Given the description of an element on the screen output the (x, y) to click on. 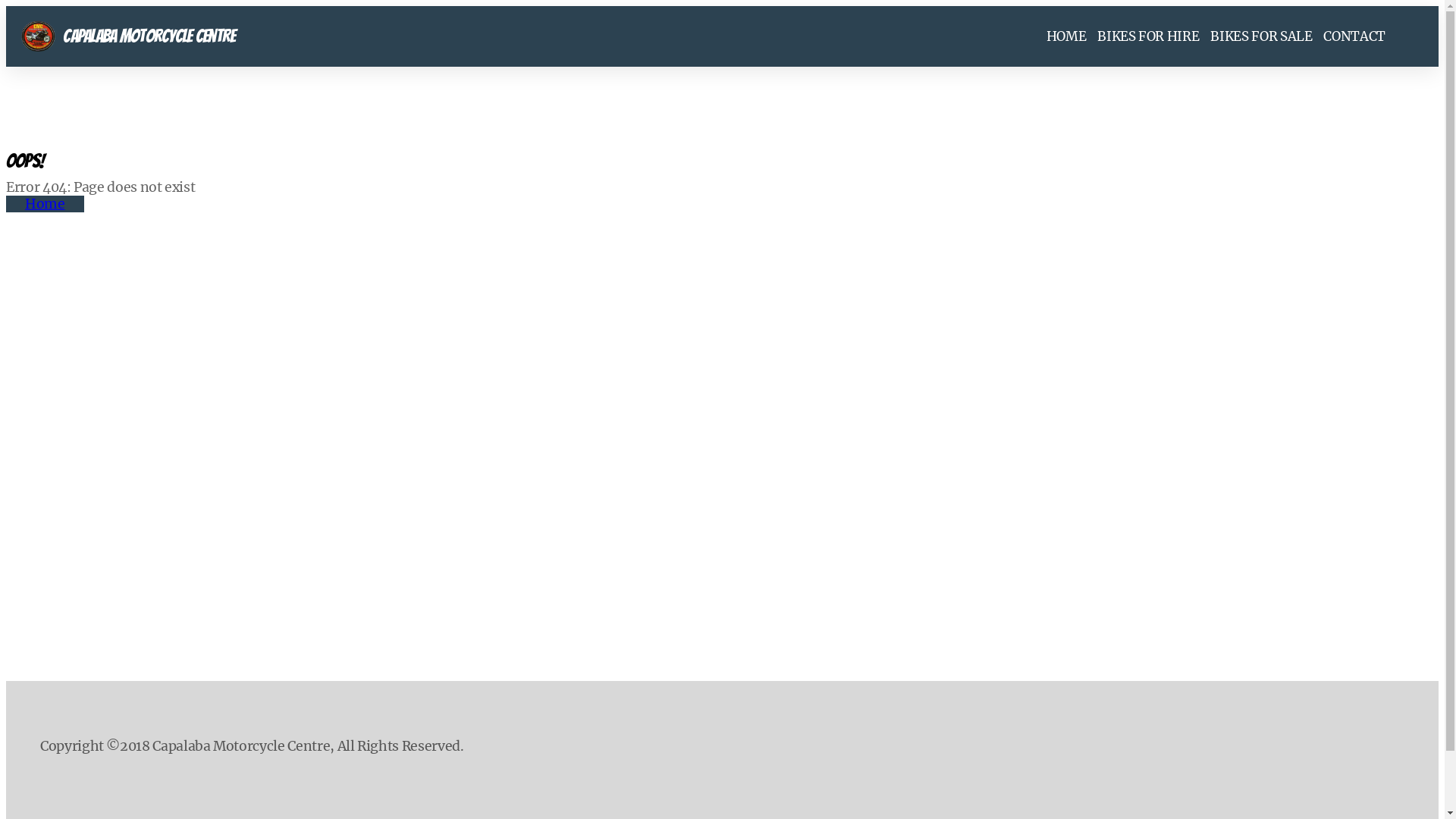
Home Element type: text (45, 203)
HOME Element type: text (1066, 35)
CONTACT Element type: text (1354, 35)
BIKES FOR SALE Element type: text (1260, 35)
Capalaba Motorcycle Centre Element type: text (128, 36)
BIKES FOR HIRE Element type: text (1147, 35)
